Given the description of an element on the screen output the (x, y) to click on. 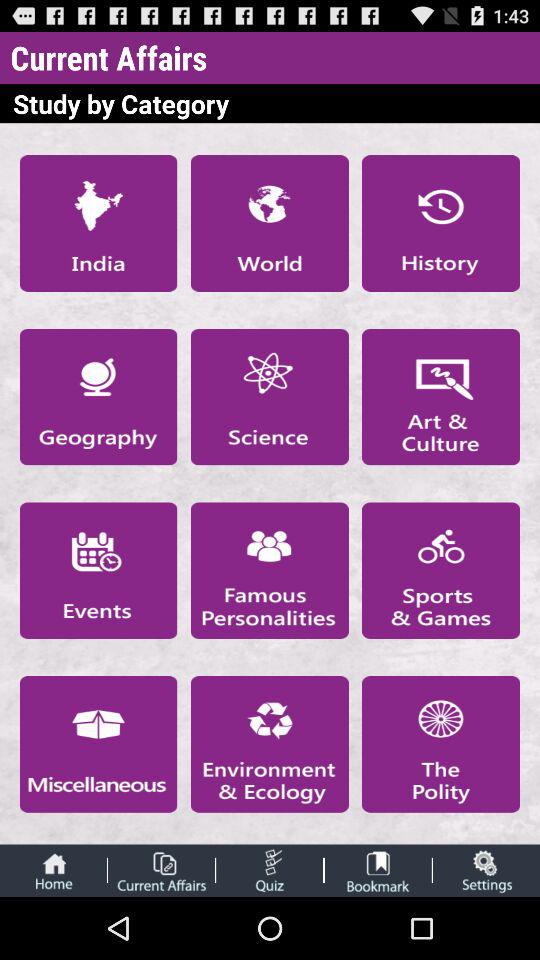
study various categorized current affair (161, 870)
